Given the description of an element on the screen output the (x, y) to click on. 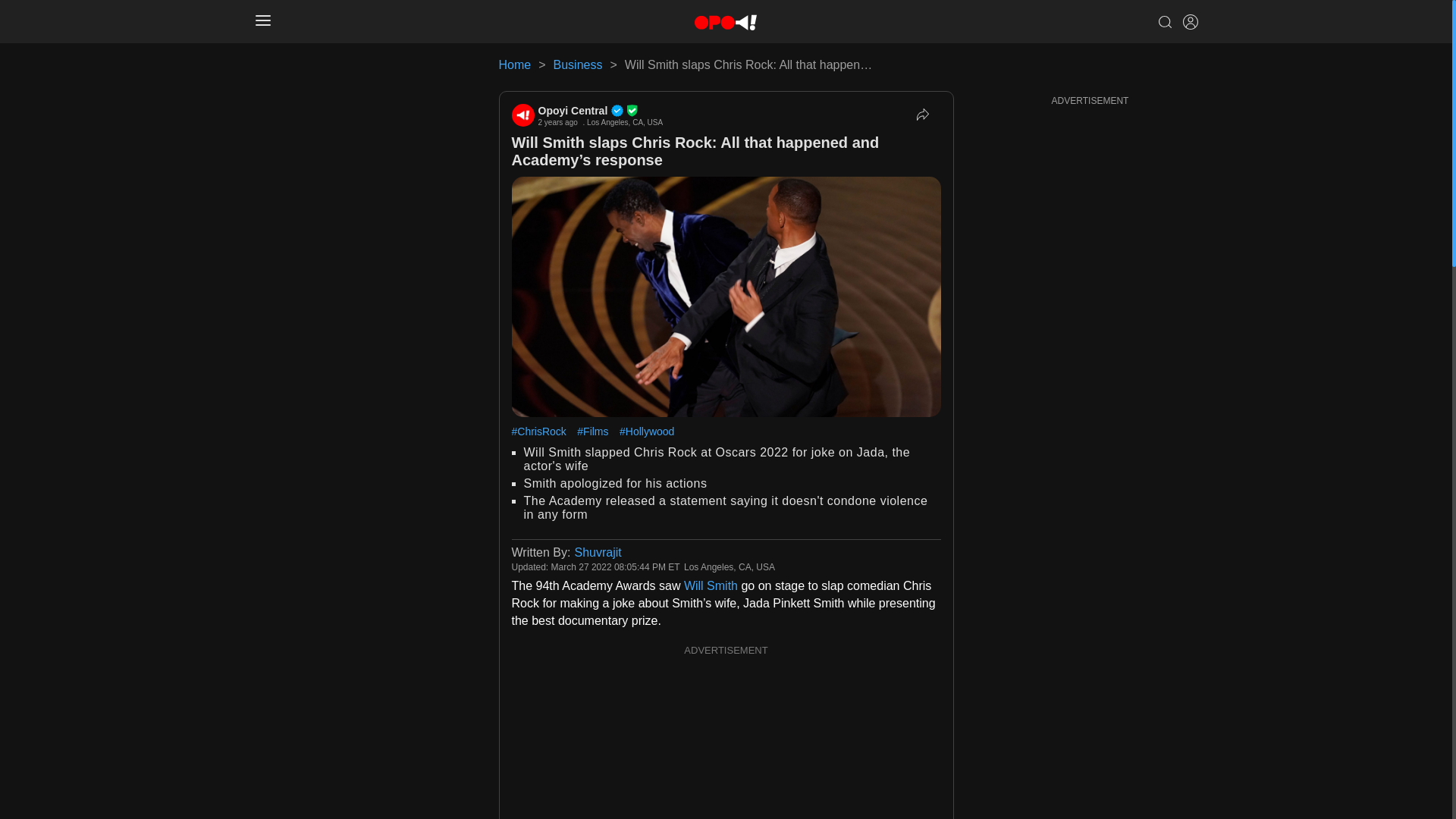
Opoyi Central (600, 110)
Business (577, 64)
Home (515, 64)
 Opoyi Central (522, 115)
Opoyi Central (600, 110)
Shuvrajit (597, 552)
